Given the description of an element on the screen output the (x, y) to click on. 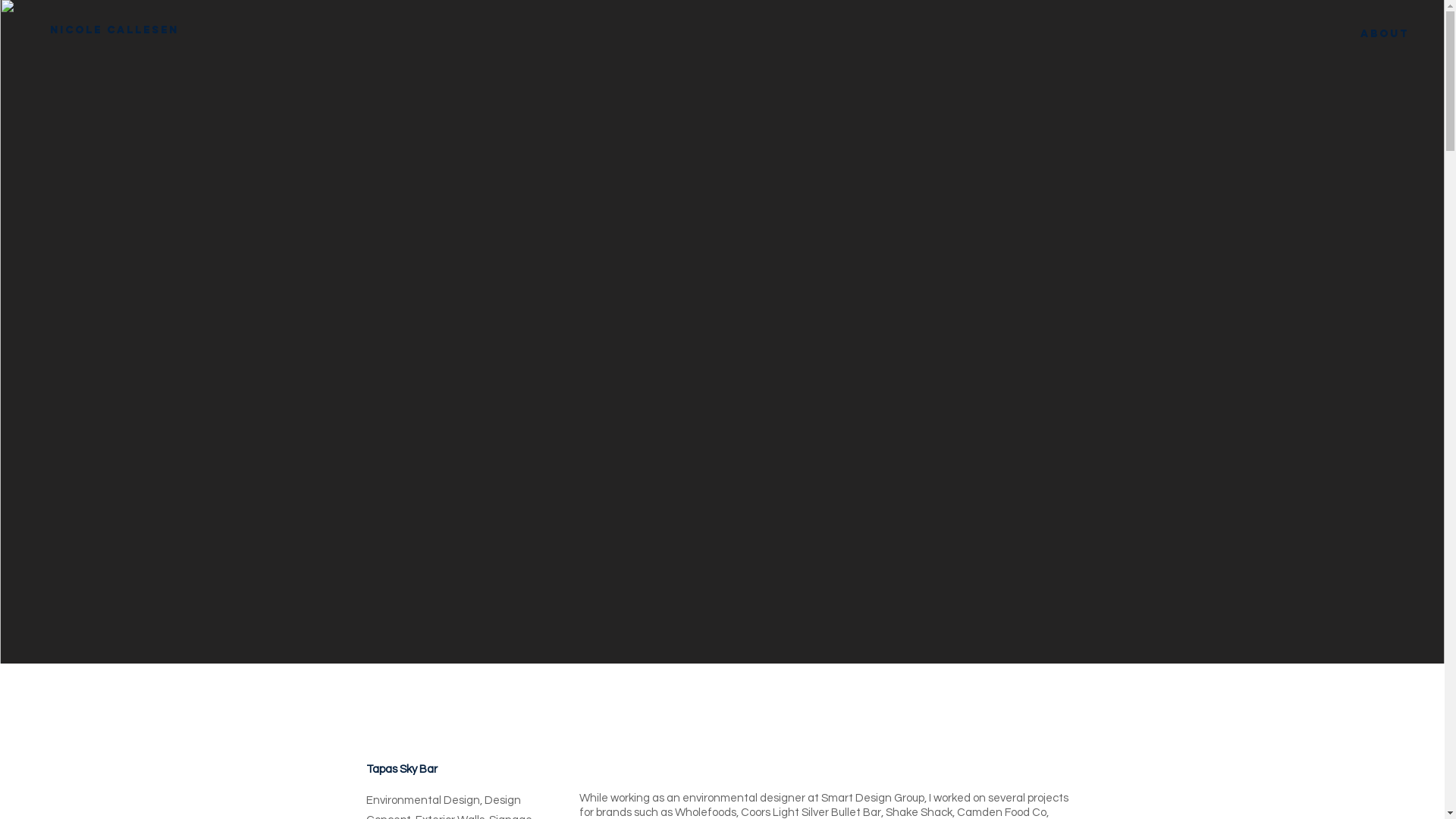
Nicole Callesen Element type: text (113, 30)
About Element type: text (1384, 34)
